Given the description of an element on the screen output the (x, y) to click on. 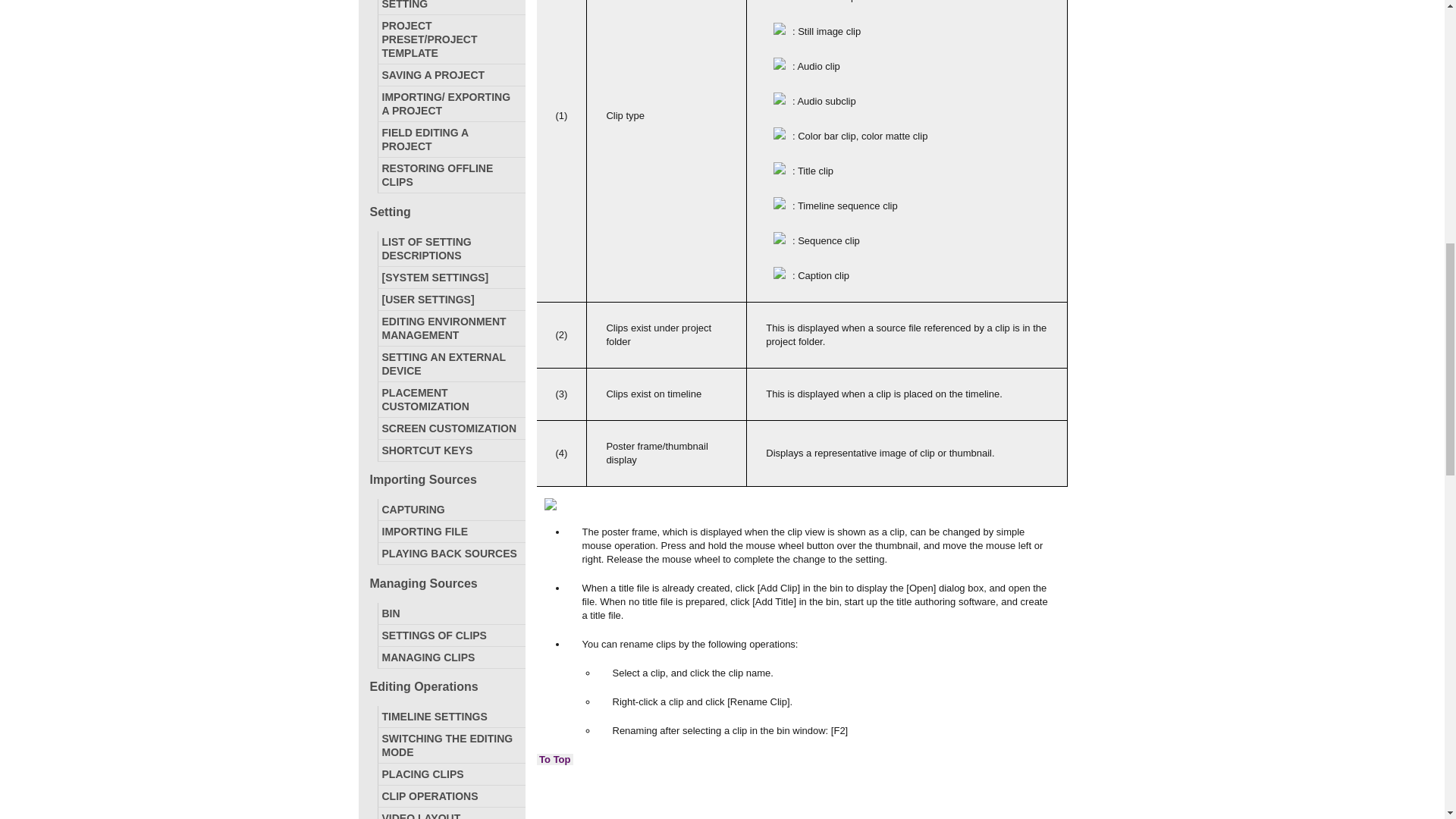
PLACEMENT CUSTOMIZATION (450, 399)
RESTORING OFFLINE CLIPS (450, 175)
LIST OF SETTING DESCRIPTIONS (450, 248)
FIELD EDITING A PROJECT (450, 139)
Setting (444, 211)
SCREEN CUSTOMIZATION (450, 427)
SETTING AN EXTERNAL DEVICE (450, 363)
Importing Sources (444, 479)
SAVING A PROJECT (450, 74)
SHORTCUT KEYS (450, 450)
